Given the description of an element on the screen output the (x, y) to click on. 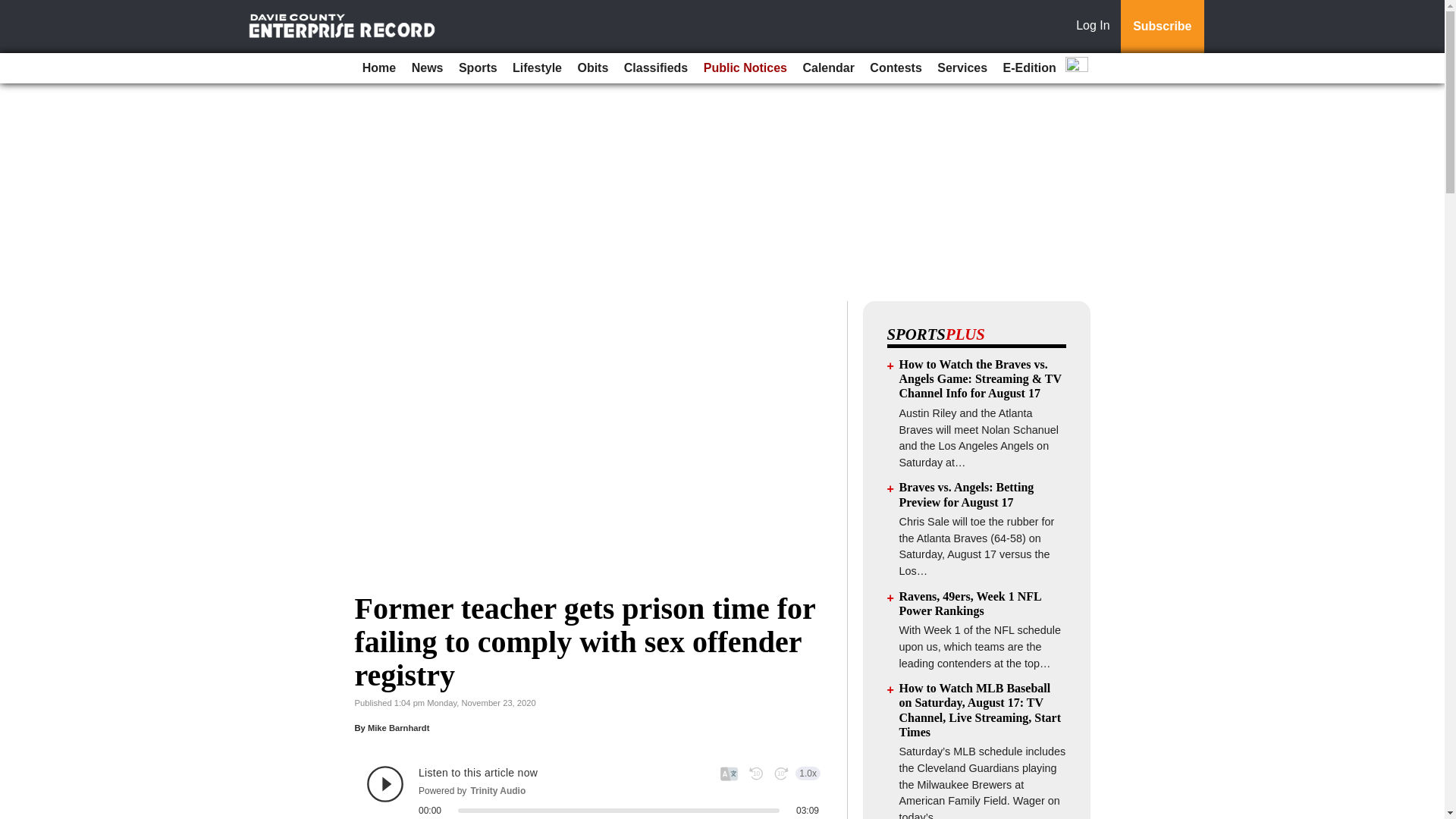
Mike Barnhardt (398, 727)
Trinity Audio Player (592, 784)
E-Edition (1029, 68)
Calendar (828, 68)
Braves vs. Angels: Betting Preview for August 17 (966, 493)
Lifestyle (536, 68)
Public Notices (745, 68)
Subscribe (1162, 26)
Services (961, 68)
Classifieds (655, 68)
